Given the description of an element on the screen output the (x, y) to click on. 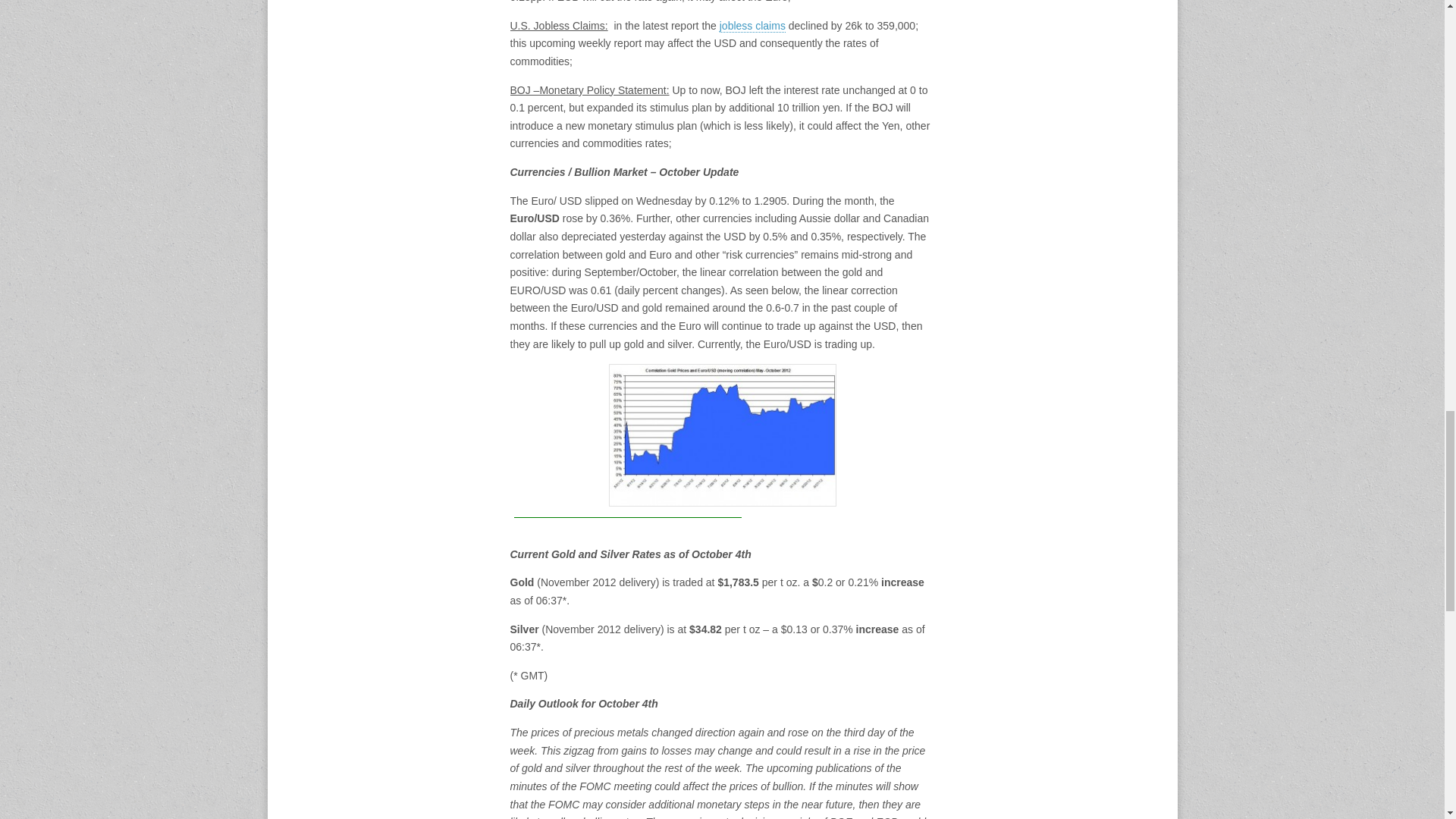
jobless claims (752, 25)
Correlation Gold and EURO USD 2012 October 4 (721, 434)
